Given the description of an element on the screen output the (x, y) to click on. 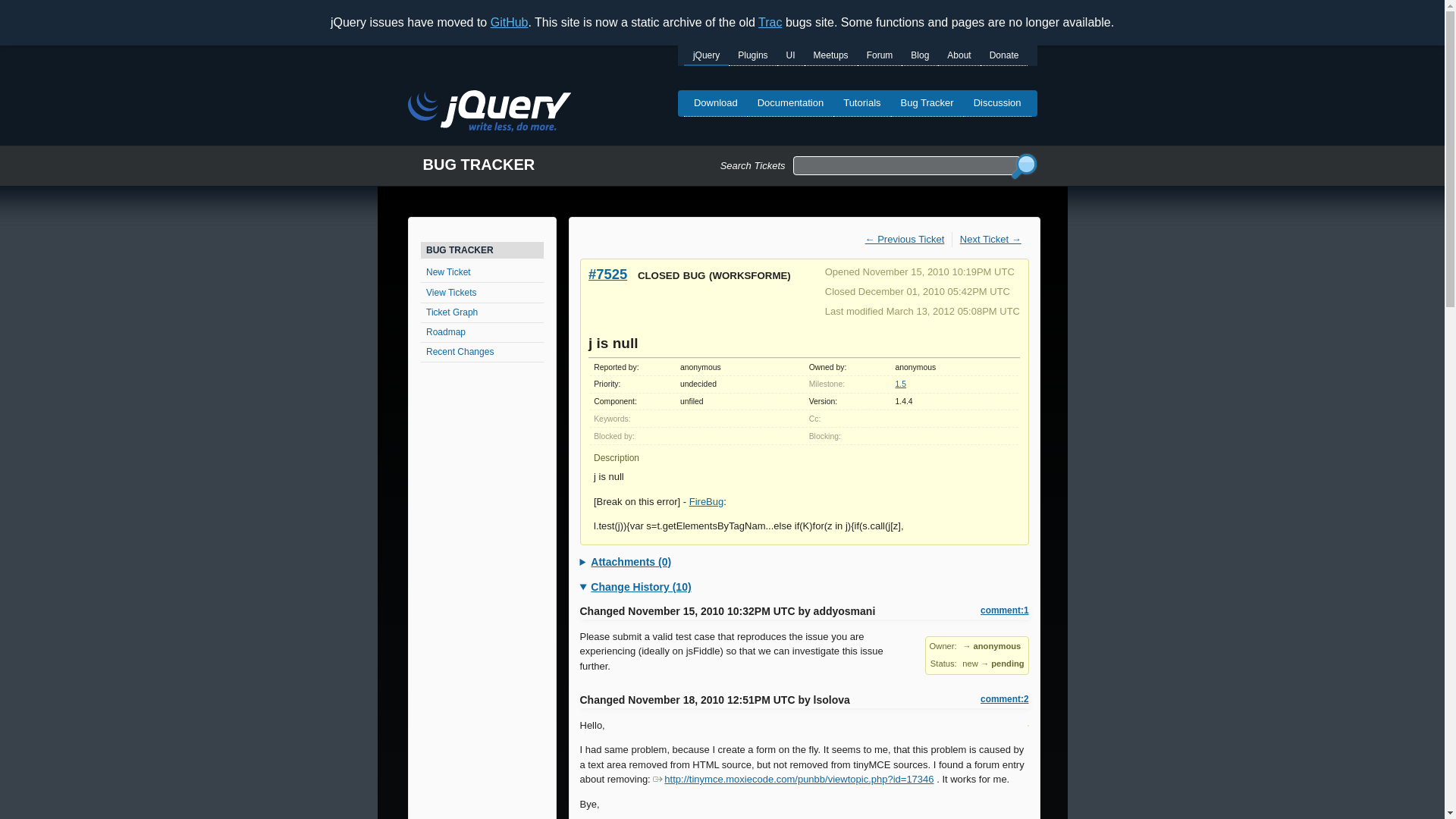
comment:2 (1003, 698)
FireBug (705, 501)
Trac (769, 21)
Donate (1003, 55)
Blog (919, 55)
jQuery Plugins (752, 55)
jQuery Meetups (831, 55)
Discussion (996, 103)
Roadmap (481, 332)
